Given the description of an element on the screen output the (x, y) to click on. 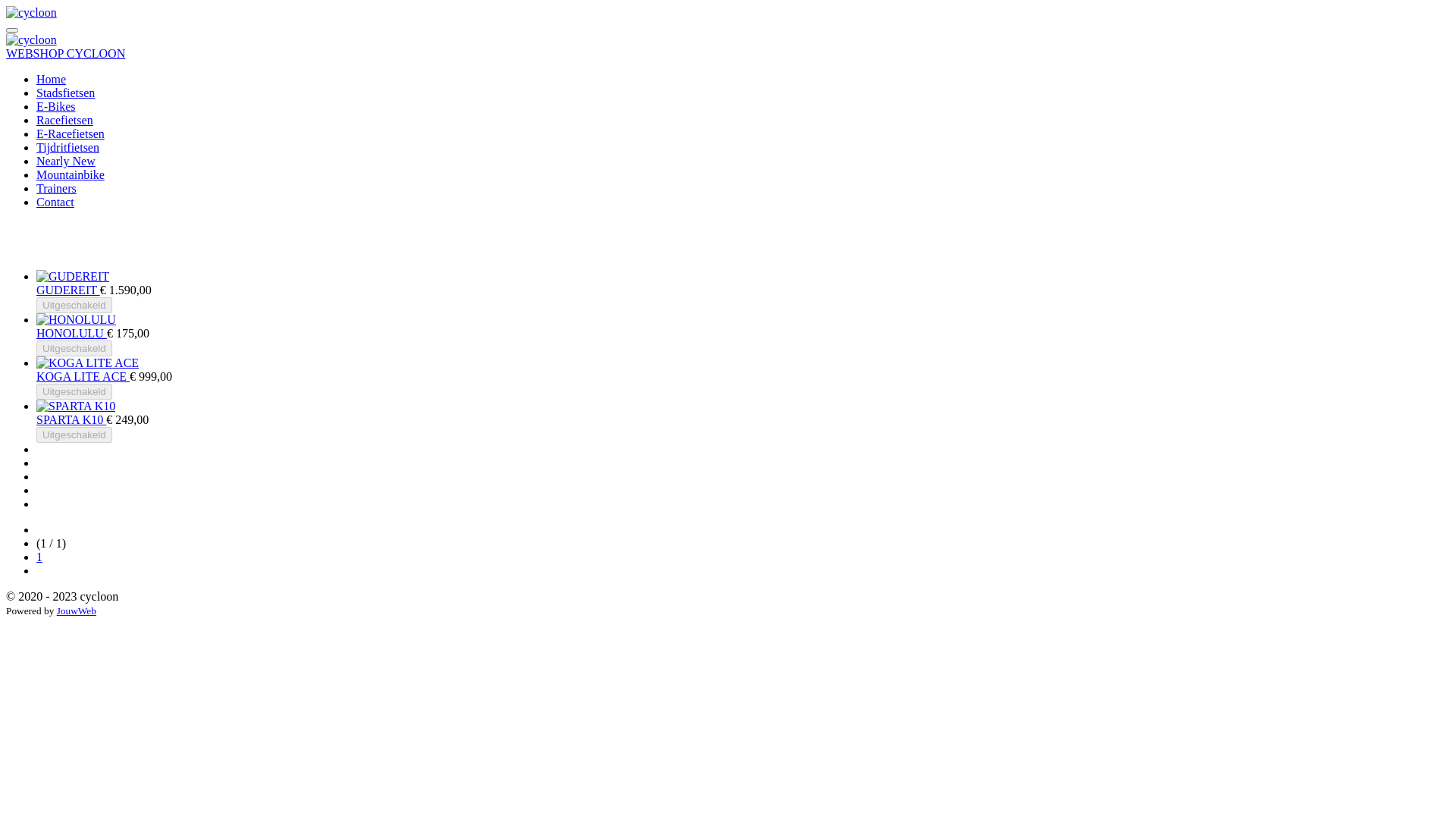
WEBSHOP CYCLOON Element type: text (65, 53)
SPARTA K10 Element type: text (71, 419)
Tijdritfietsen Element type: text (67, 147)
Trainers Element type: text (56, 188)
E-Bikes Element type: text (55, 106)
Uitgeschakeld Element type: text (74, 434)
KOGA LITE ACE Element type: text (82, 376)
Uitgeschakeld Element type: text (74, 391)
cycloon Element type: hover (31, 12)
Uitgeschakeld Element type: text (74, 348)
Racefietsen Element type: text (64, 119)
Stadsfietsen Element type: text (65, 92)
Home Element type: text (50, 78)
Uitgeschakeld Element type: text (74, 305)
cycloon Element type: hover (31, 40)
Contact Element type: text (55, 201)
JouwWeb Element type: text (76, 610)
Nearly New Element type: text (65, 160)
HONOLULU Element type: text (71, 332)
1 Element type: text (39, 556)
Mountainbike Element type: text (70, 174)
E-Racefietsen Element type: text (70, 133)
GUDEREIT Element type: text (68, 289)
